Given the description of an element on the screen output the (x, y) to click on. 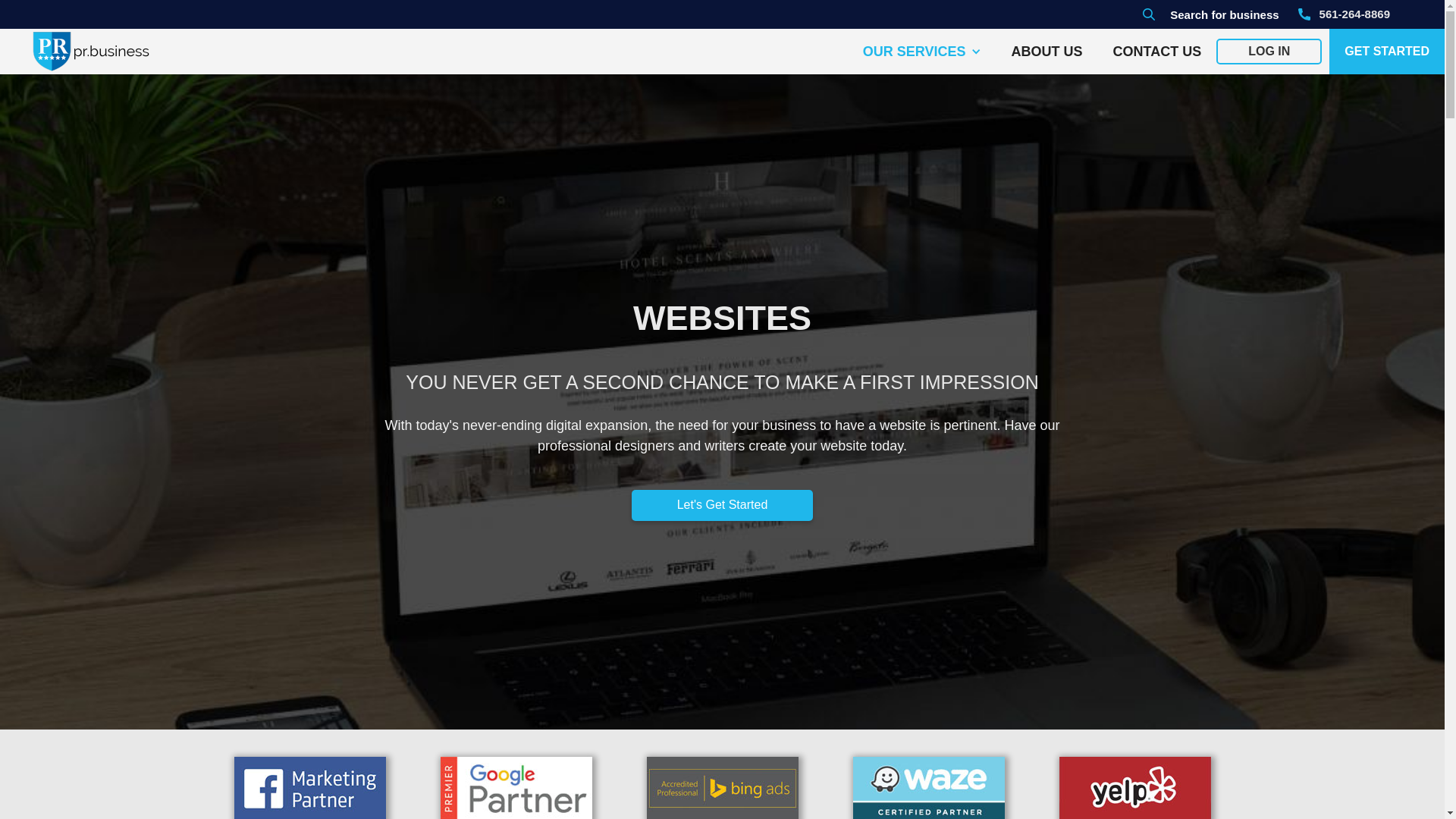
561-264-8869 Element type: text (1344, 14)
ABOUT US Element type: text (1047, 51)
CONTACT US Element type: text (1157, 51)
GET STARTED Element type: text (1386, 51)
LOG IN Element type: text (1268, 51)
Let's Get Started Element type: text (722, 504)
